Given the description of an element on the screen output the (x, y) to click on. 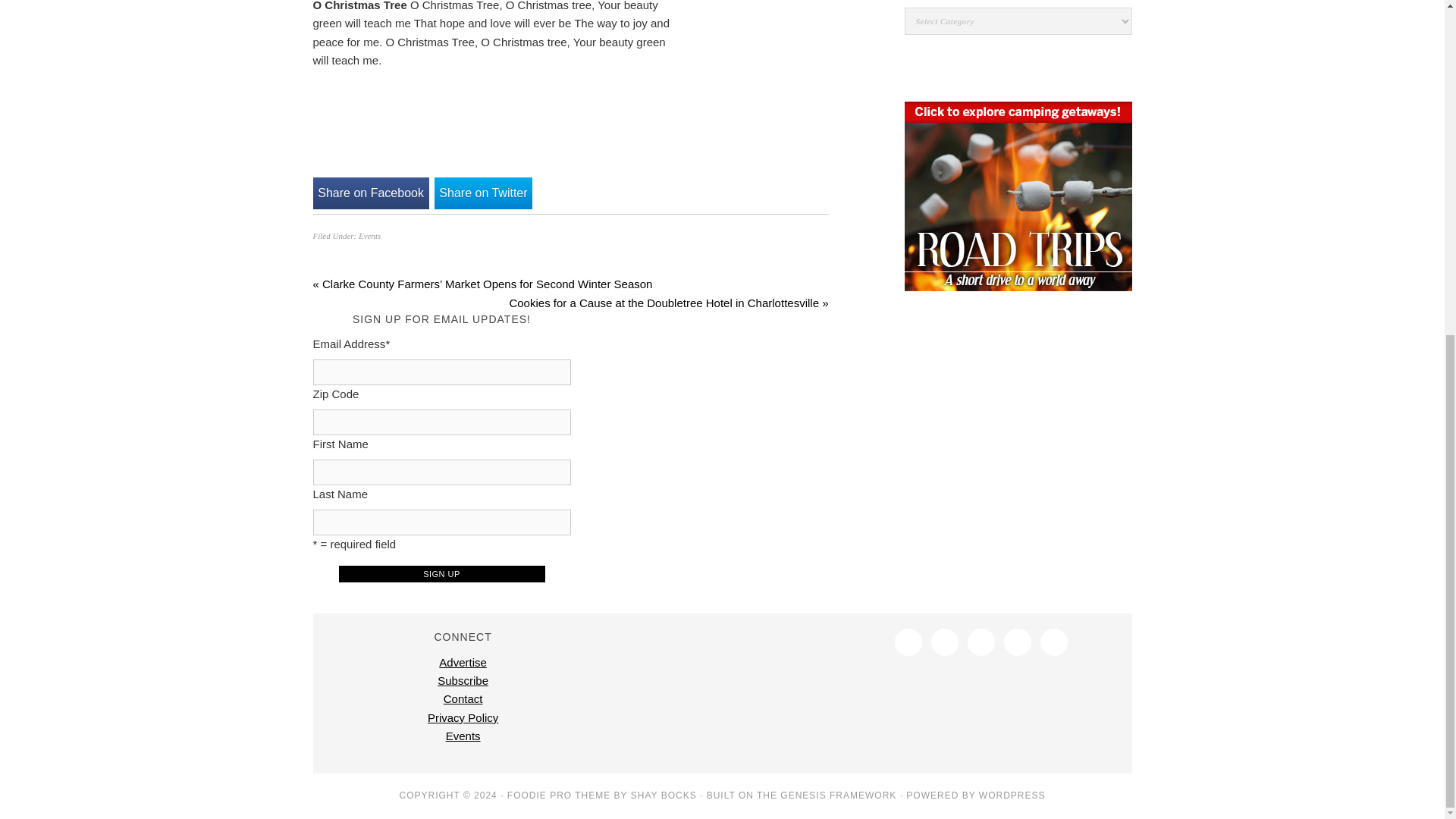
Sign Up (440, 573)
Share on Facebook (370, 193)
Share on Twitter (482, 193)
Events (369, 235)
Sign Up (440, 573)
